Given the description of an element on the screen output the (x, y) to click on. 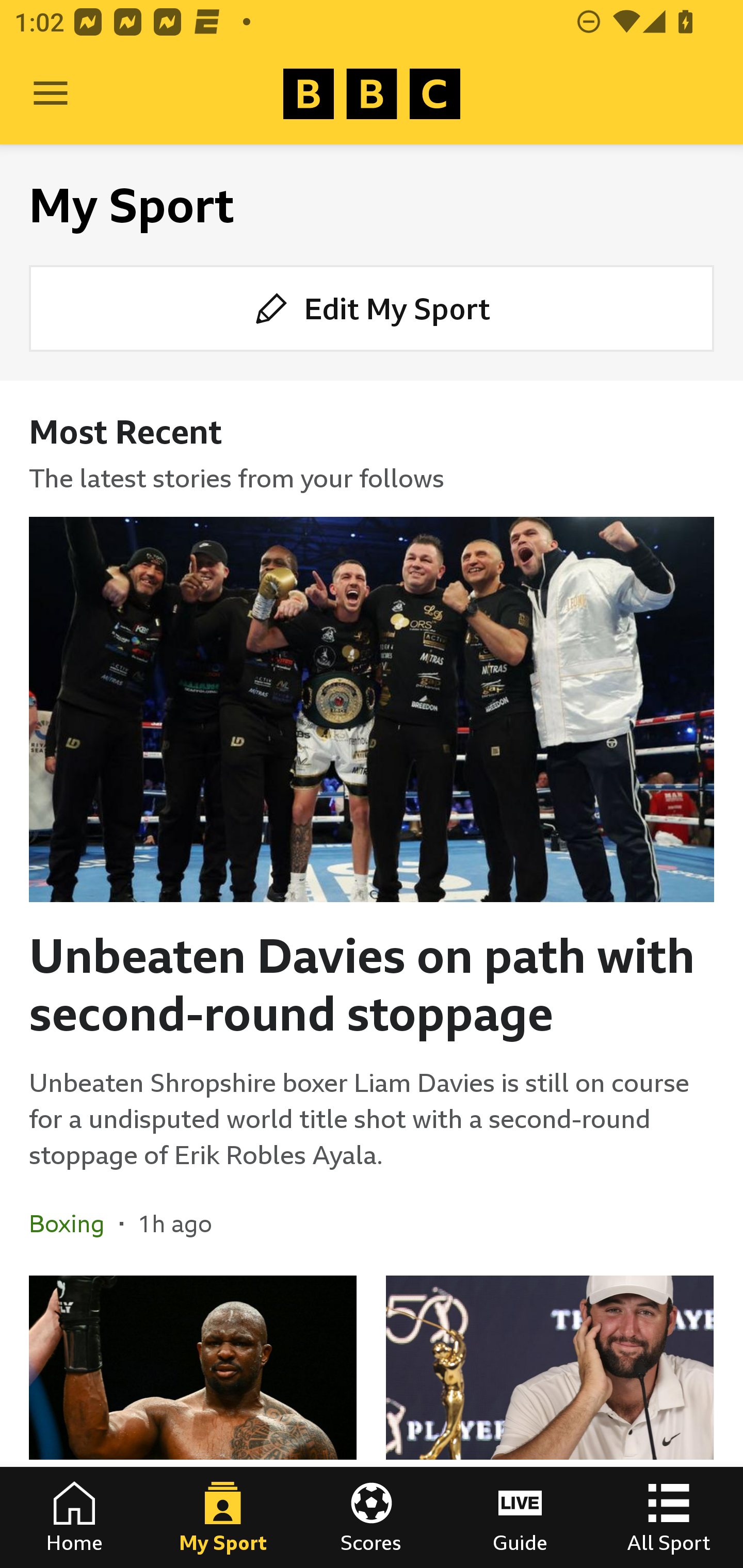
Open Menu (50, 93)
Edit My Sport (371, 307)
Home (74, 1517)
Scores (371, 1517)
Guide (519, 1517)
All Sport (668, 1517)
